Given the description of an element on the screen output the (x, y) to click on. 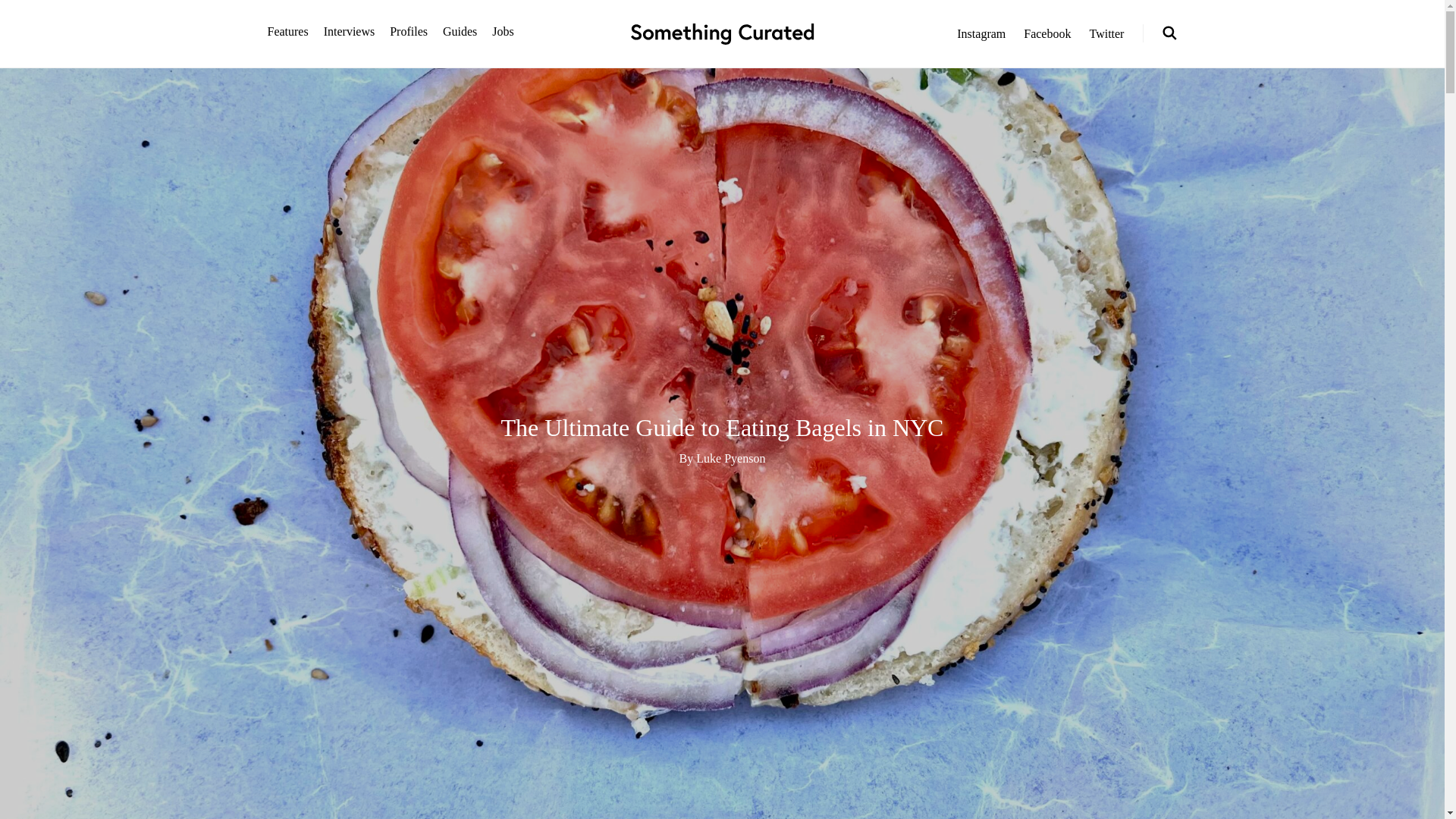
Posts by Luke Pyenson (730, 458)
Instagram (981, 33)
Features (286, 31)
Jobs (502, 31)
Luke Pyenson (730, 458)
Twitter (1106, 33)
Facebook (1046, 33)
Interviews (349, 31)
Guides (459, 31)
Profiles (409, 31)
